Given the description of an element on the screen output the (x, y) to click on. 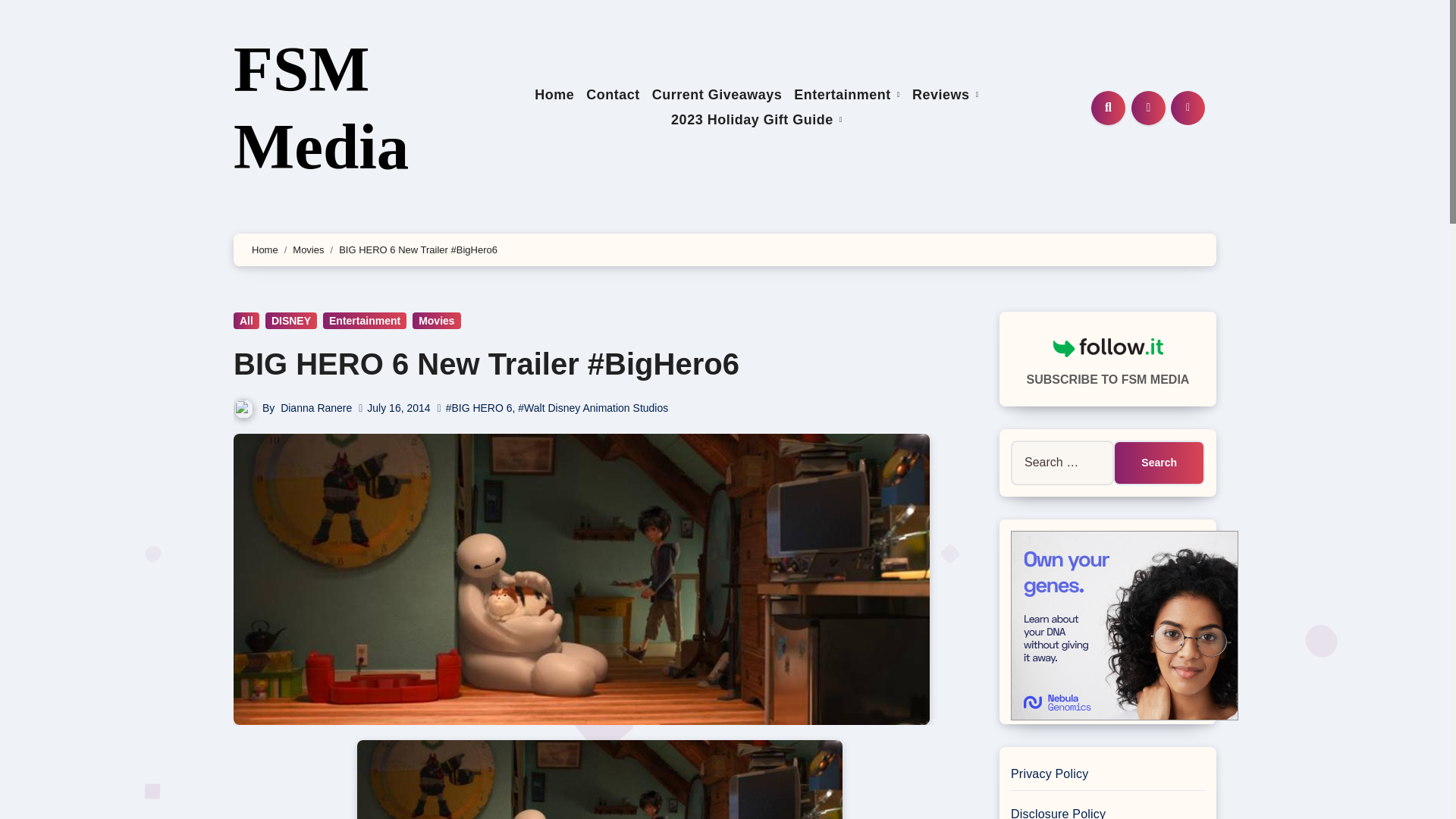
Home (553, 95)
Reviews (945, 95)
Search (1159, 462)
Movies (436, 320)
FSM Media (320, 107)
Movies (307, 249)
Entertainment (846, 95)
Home (553, 95)
Entertainment (364, 320)
July 16, 2014 (397, 408)
